Given the description of an element on the screen output the (x, y) to click on. 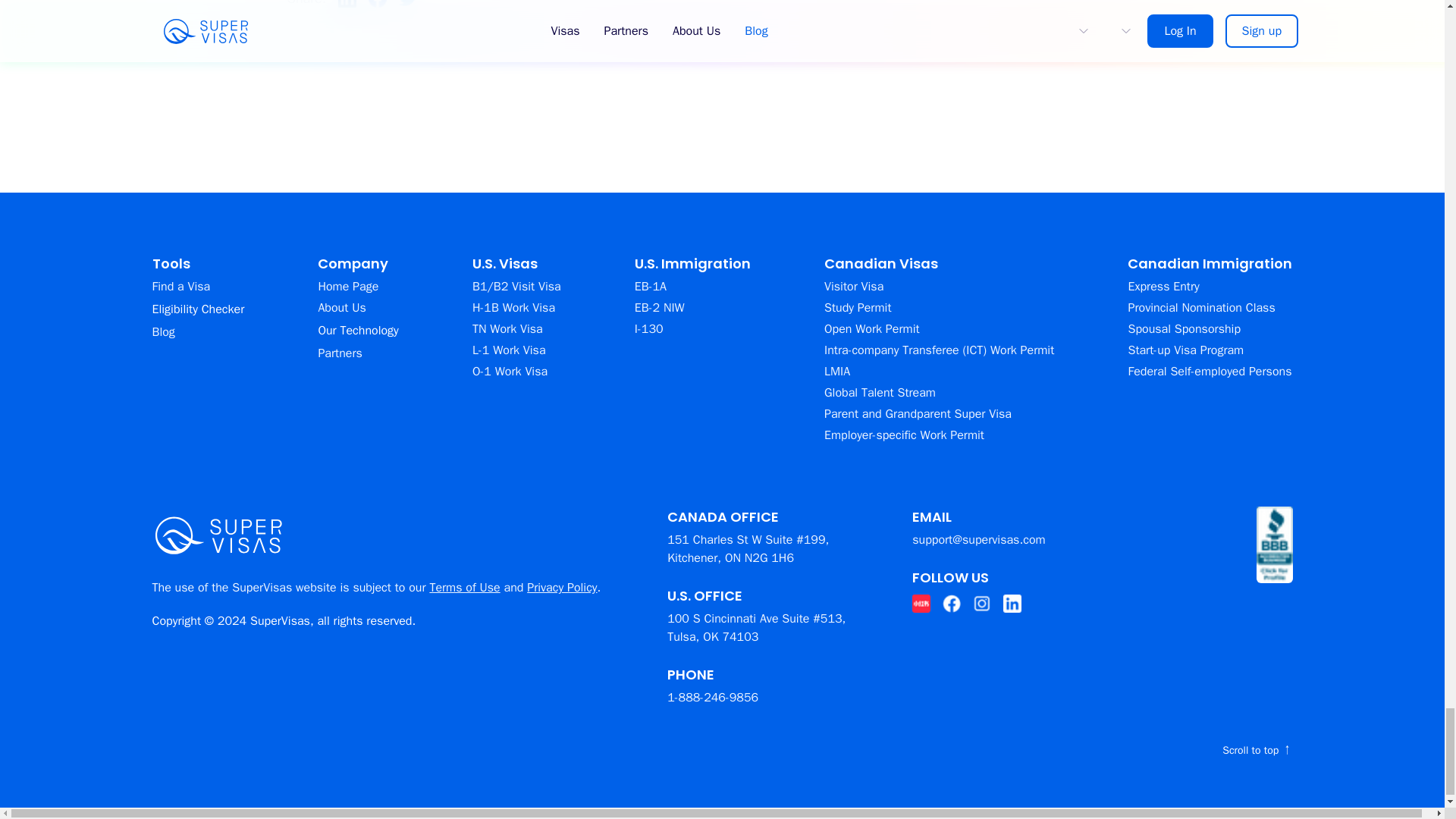
EB-1A (692, 286)
TN Work Visa (515, 328)
Share article to Facebook (377, 3)
Our Technology (357, 330)
H-1B Work Visa (515, 307)
Open Work Permit (939, 328)
Eligibility Checker (197, 309)
Share article to Twitter (407, 2)
Partners (357, 353)
About Us (357, 307)
